Given the description of an element on the screen output the (x, y) to click on. 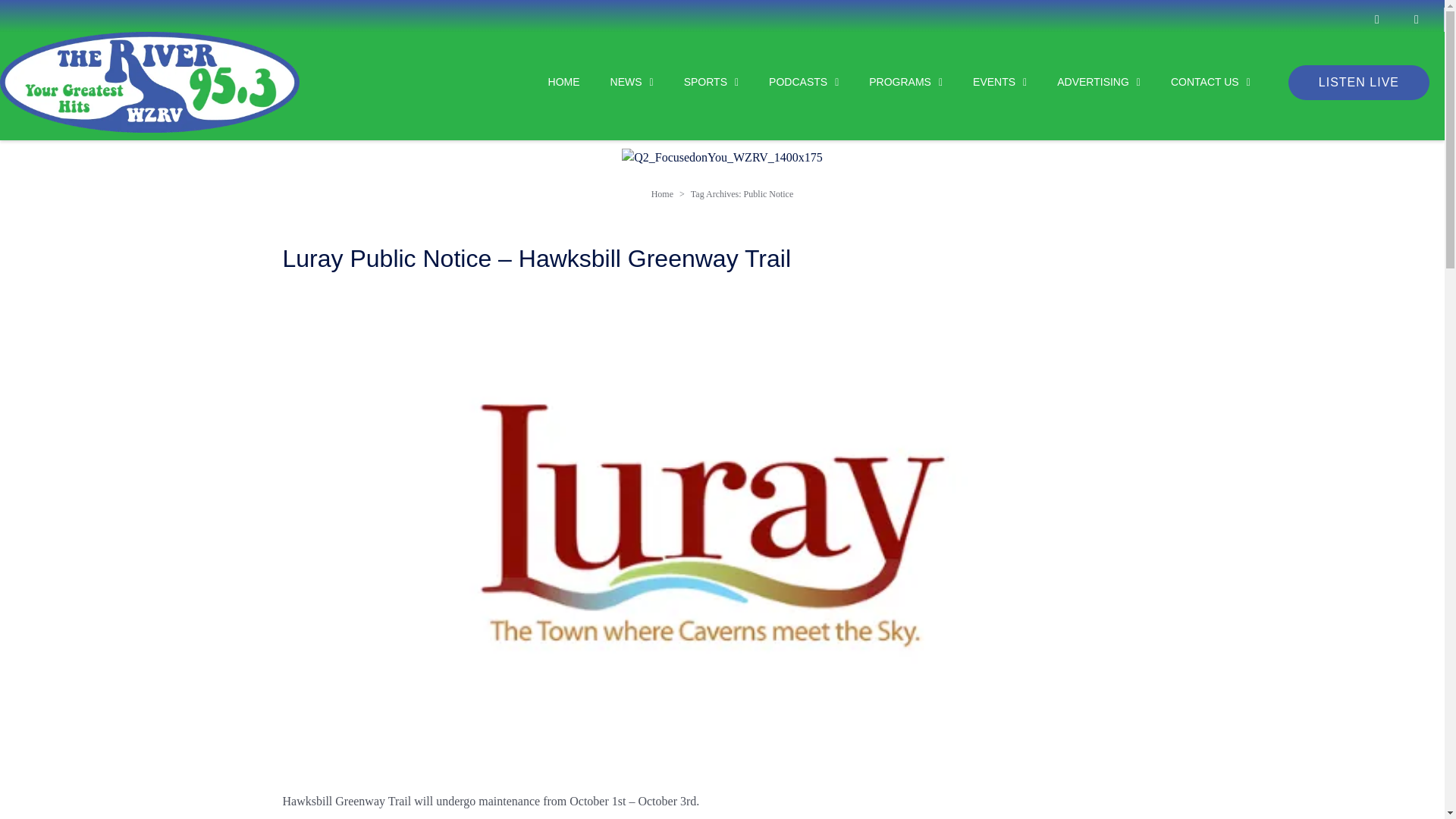
SPORTS (695, 82)
NEWS (616, 82)
HOME (548, 82)
PROGRAMS (890, 82)
PODCASTS (788, 82)
